Given the description of an element on the screen output the (x, y) to click on. 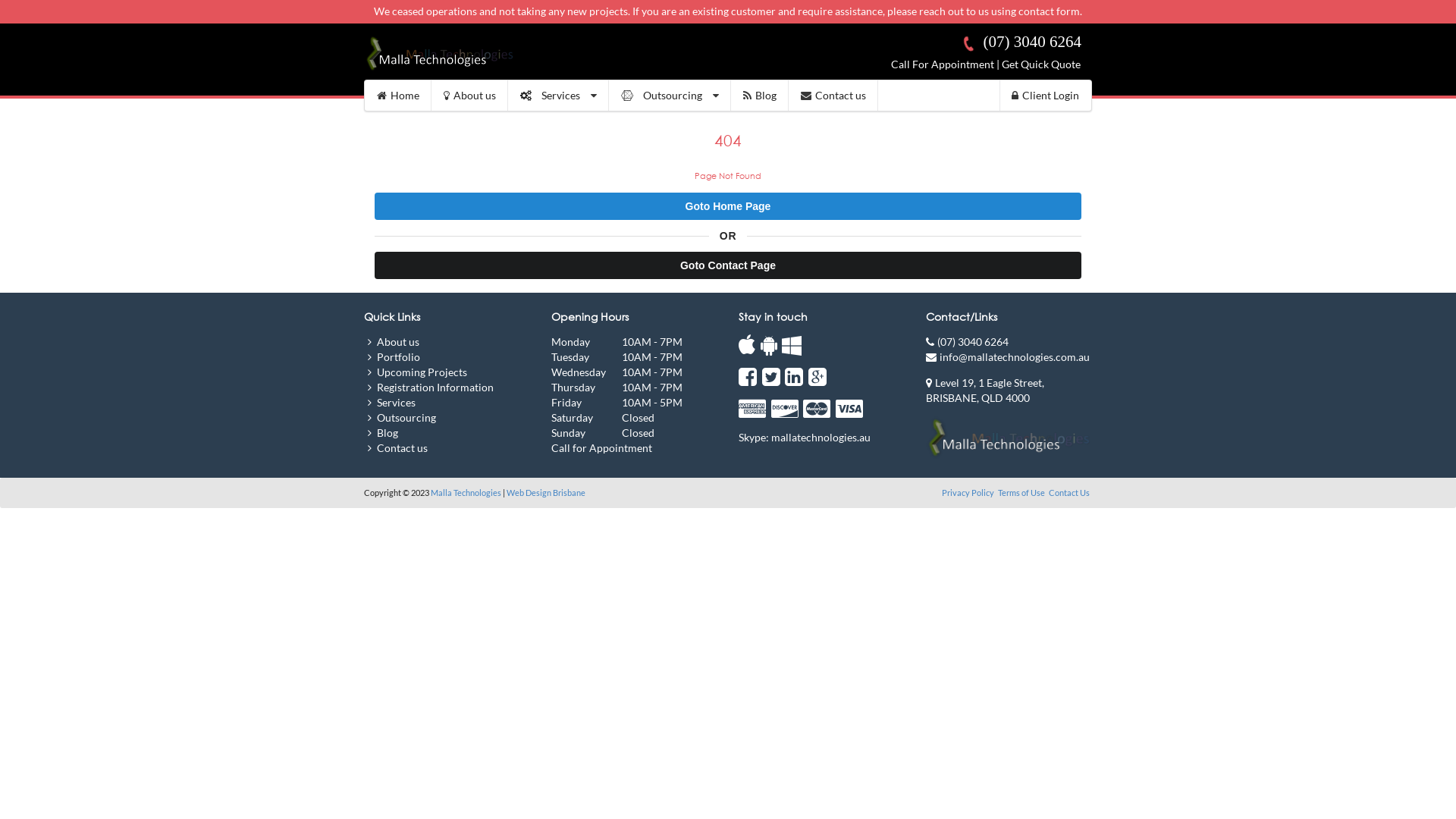
Web Design Brisbane Element type: text (545, 492)
Client Login Element type: text (1045, 95)
About us Element type: text (469, 95)
Level 19, 1 Eagle Street,
BRISBANE, QLD 4000 Element type: text (984, 390)
Terms of Use Element type: text (1021, 492)
Contact Us Element type: text (1068, 492)
Blog Element type: text (759, 95)
Goto Contact Page Element type: text (727, 265)
Contact us Element type: text (833, 95)
Privacy Policy Element type: text (968, 492)
Goto Home Page Element type: text (727, 205)
Home Element type: text (397, 95)
Malla Technologies Element type: text (465, 492)
